Given the description of an element on the screen output the (x, y) to click on. 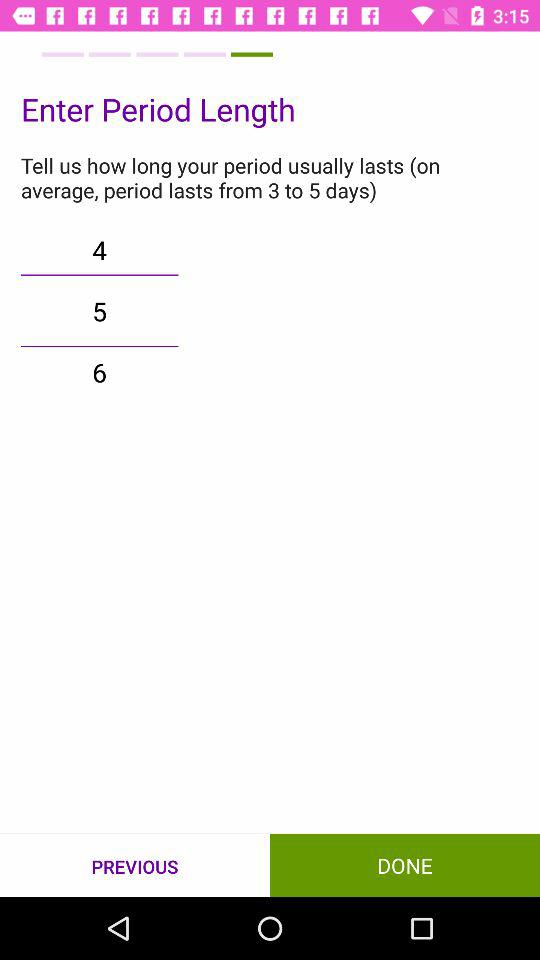
launch done (405, 864)
